Given the description of an element on the screen output the (x, y) to click on. 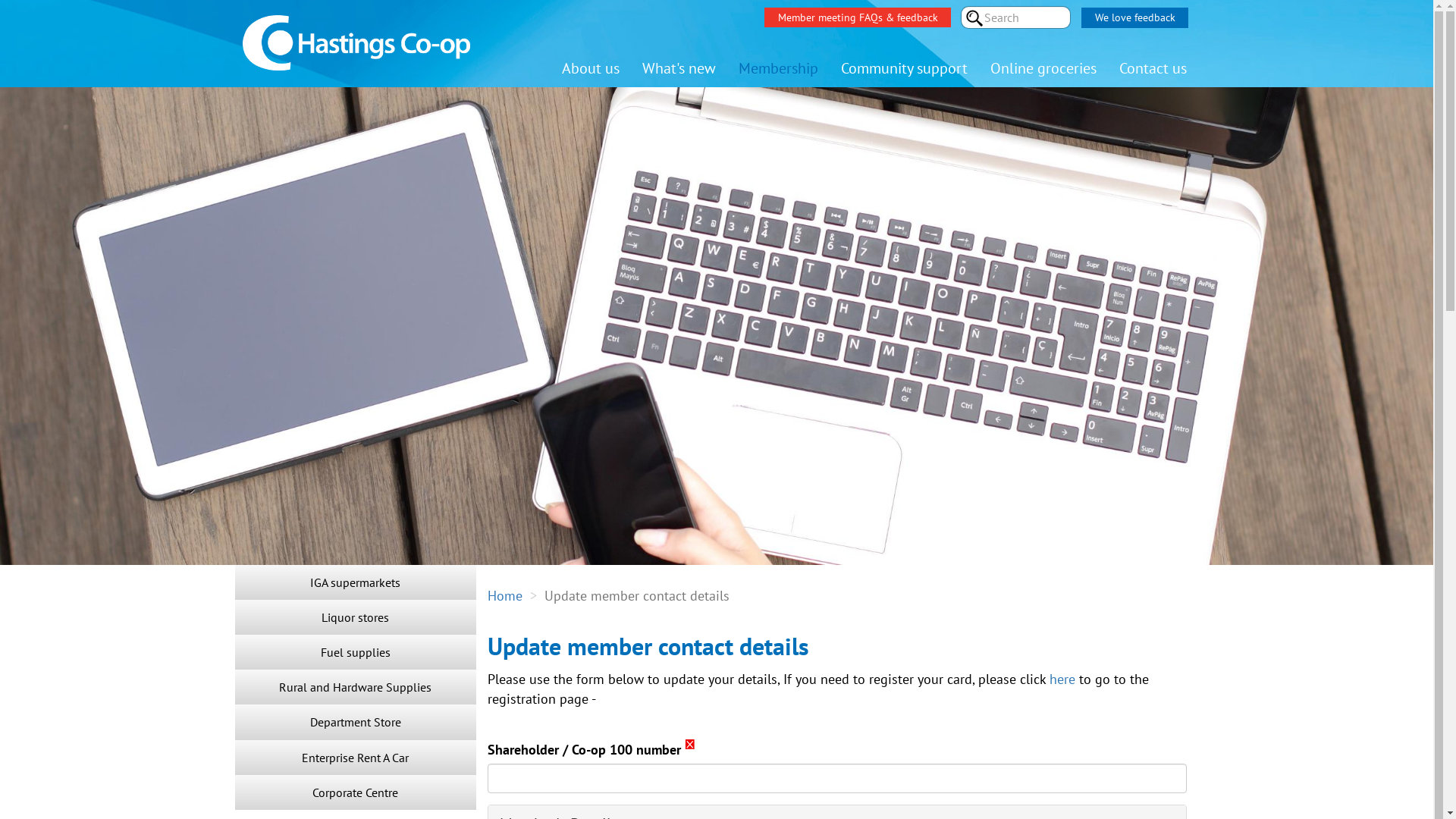
We love feedback Element type: text (1134, 17)
Online groceries Element type: text (1043, 68)
Member meeting FAQs & feedback Element type: text (857, 17)
Home Element type: hover (379, 38)
Community support Element type: text (904, 68)
Skip to main content Element type: text (0, 0)
Credit account application Element type: text (498, 664)
Department Store Element type: text (355, 721)
Fuel supplies Element type: text (355, 651)
What's new Element type: text (678, 68)
Rural and Hardware Supplies Element type: text (355, 686)
Liquor stores Element type: text (355, 616)
here Element type: text (1062, 678)
Credit account application Element type: text (498, 699)
Enterprise Rent A Car Element type: text (355, 757)
IGA supermarkets Element type: text (355, 581)
Contact us Element type: text (1152, 68)
Membership Element type: text (778, 68)
Corporate Centre Element type: text (355, 792)
About us Element type: text (590, 68)
Home Element type: text (503, 595)
